Given the description of an element on the screen output the (x, y) to click on. 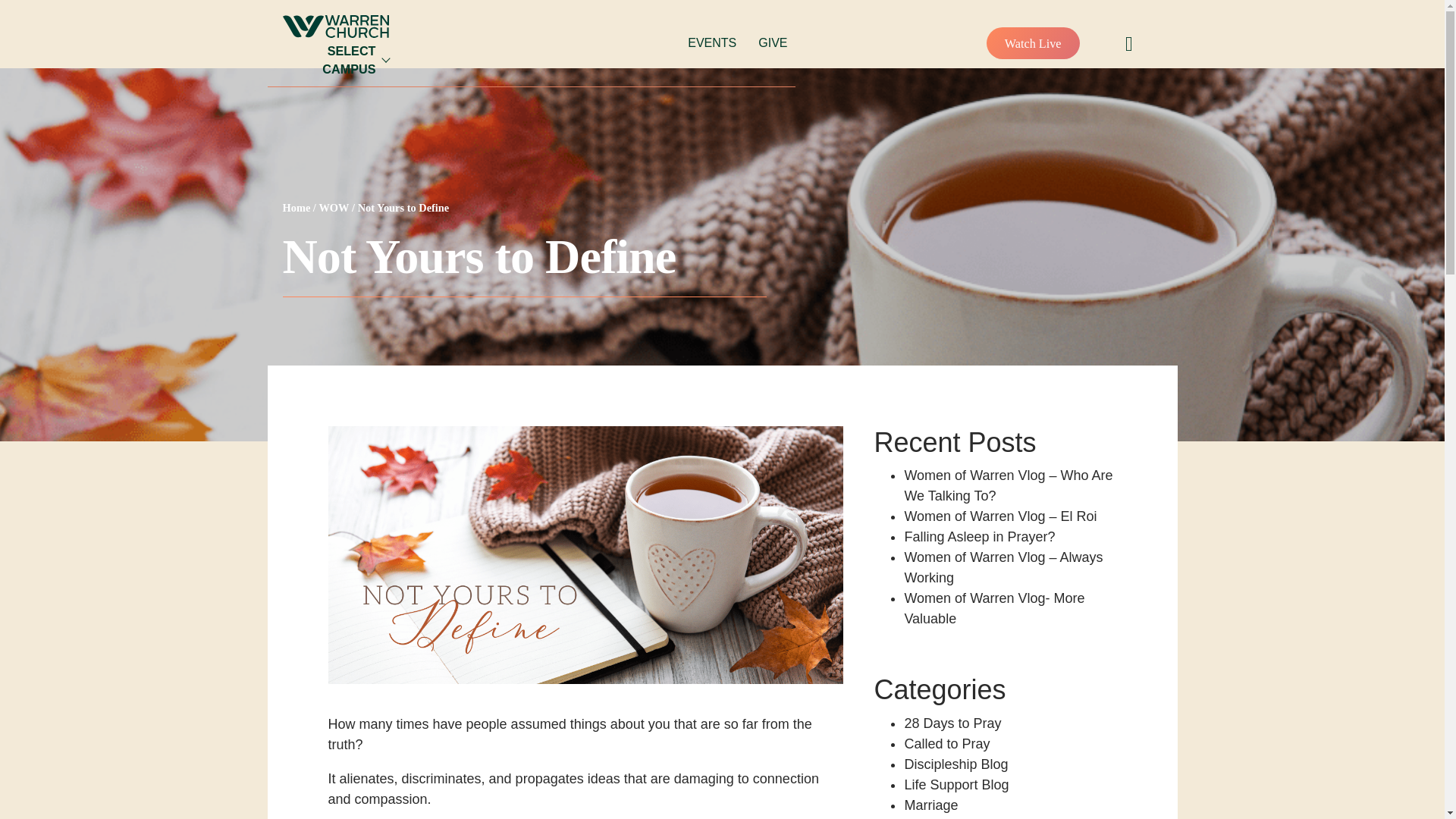
GIVE (772, 42)
WOW (333, 207)
EVENTS (711, 42)
Warren-Church-Logo (335, 26)
WOW Blog Headers (585, 554)
Watch Live (1033, 42)
Home (296, 207)
